Given the description of an element on the screen output the (x, y) to click on. 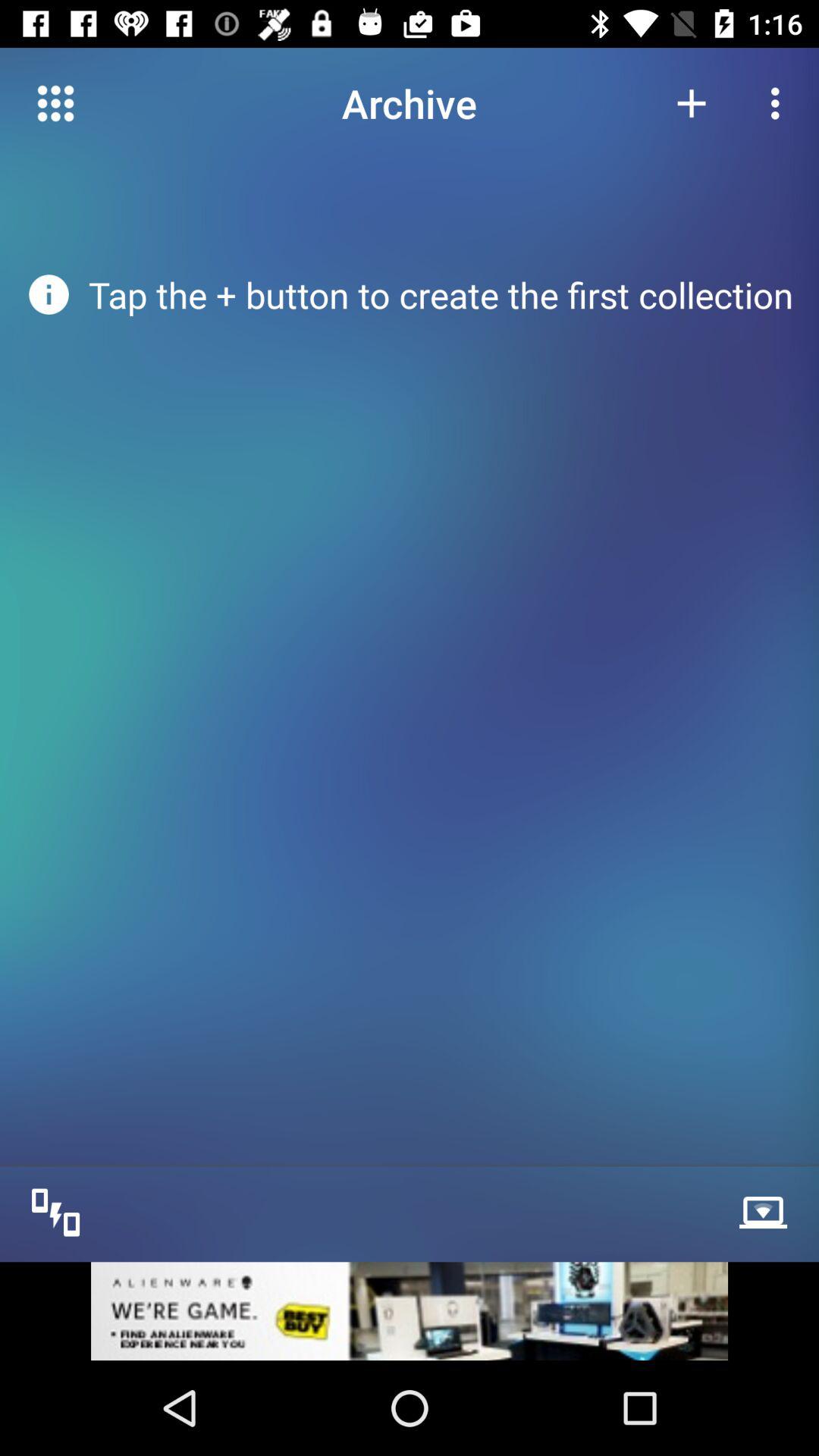
go to menu (55, 103)
